Given the description of an element on the screen output the (x, y) to click on. 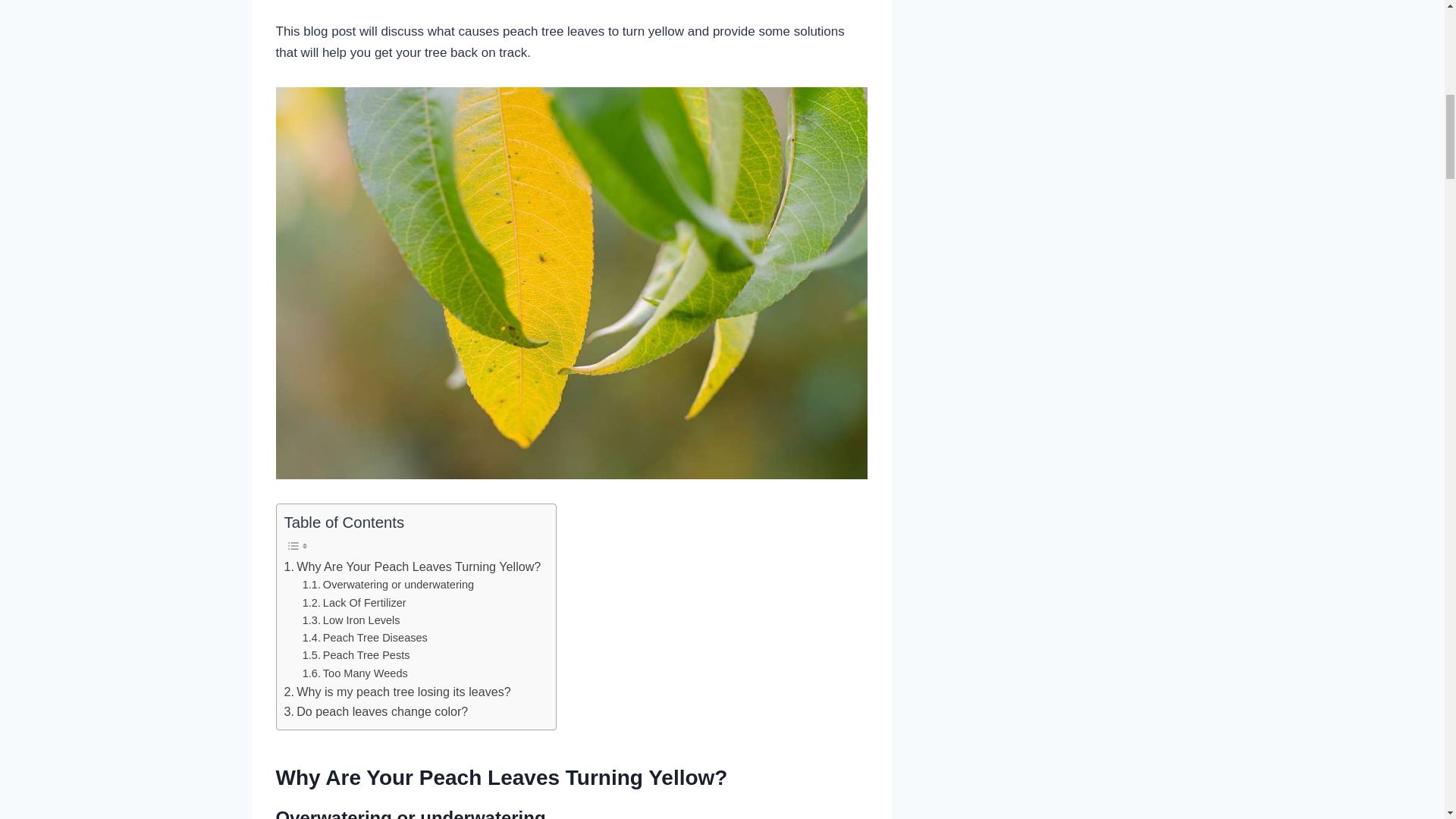
Peach Tree Pests (356, 655)
Why Are Your Peach Leaves Turning Yellow? (411, 567)
Peach Tree Diseases (365, 638)
Too Many Weeds (354, 673)
Do peach leaves change color? (375, 711)
Peach Tree Diseases (365, 638)
Do peach leaves change color? (375, 711)
Low Iron Levels (351, 620)
Overwatering or underwatering (388, 584)
Why is my peach tree losing its leaves? (397, 691)
Lack Of Fertilizer (354, 602)
Why is my peach tree losing its leaves? (397, 691)
Peach Tree Pests (356, 655)
Low Iron Levels (351, 620)
Lack Of Fertilizer (354, 602)
